Given the description of an element on the screen output the (x, y) to click on. 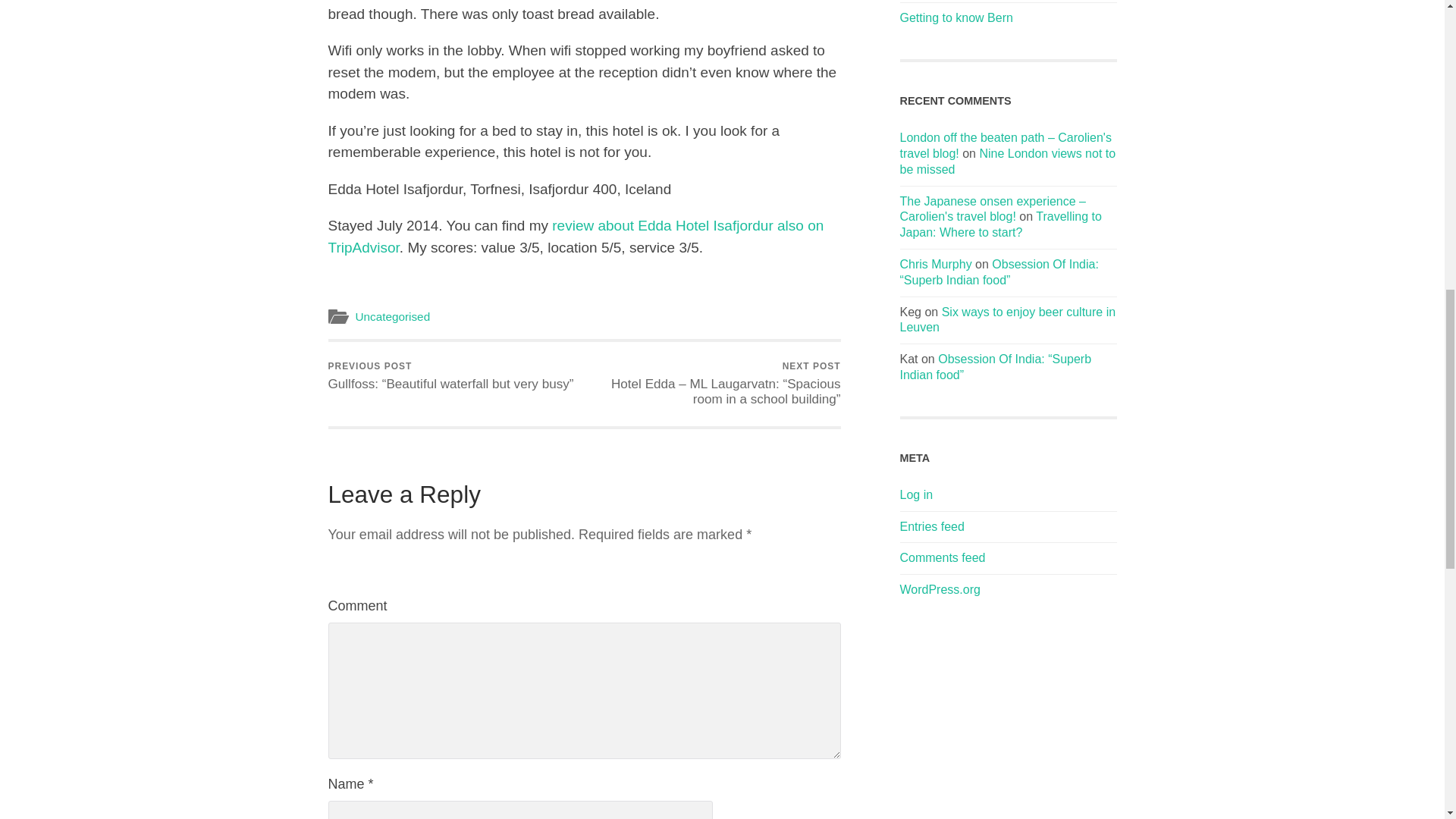
Chris Murphy (935, 264)
Uncategorised (392, 316)
review about Edda Hotel Isafjordur also on TripAdvisor (575, 236)
Nine London views not to be missed (1007, 161)
Getting to know Bern (955, 17)
Six ways to enjoy beer culture in Leuven (1007, 319)
WordPress.org (939, 589)
Travelling to Japan: Where to start? (999, 224)
Entries feed (931, 526)
Log in (916, 494)
Comments feed (942, 557)
